Given the description of an element on the screen output the (x, y) to click on. 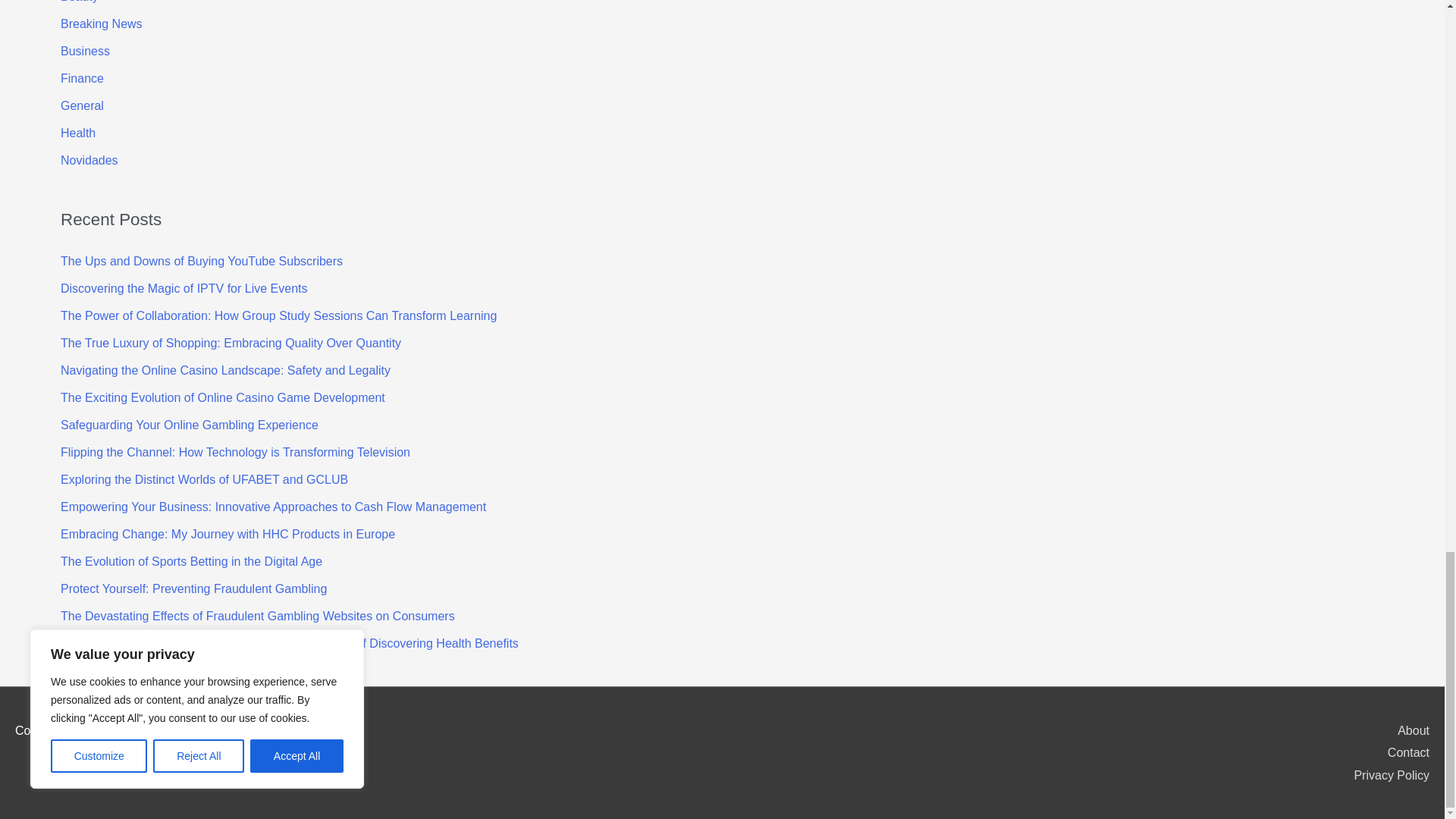
Breaking News (101, 23)
General (82, 105)
Beauty (80, 1)
Discovering the Magic of IPTV for Live Events (184, 287)
Business (85, 51)
Finance (82, 78)
Health (78, 132)
Novidades (89, 160)
The Ups and Downs of Buying YouTube Subscribers (201, 260)
